Given the description of an element on the screen output the (x, y) to click on. 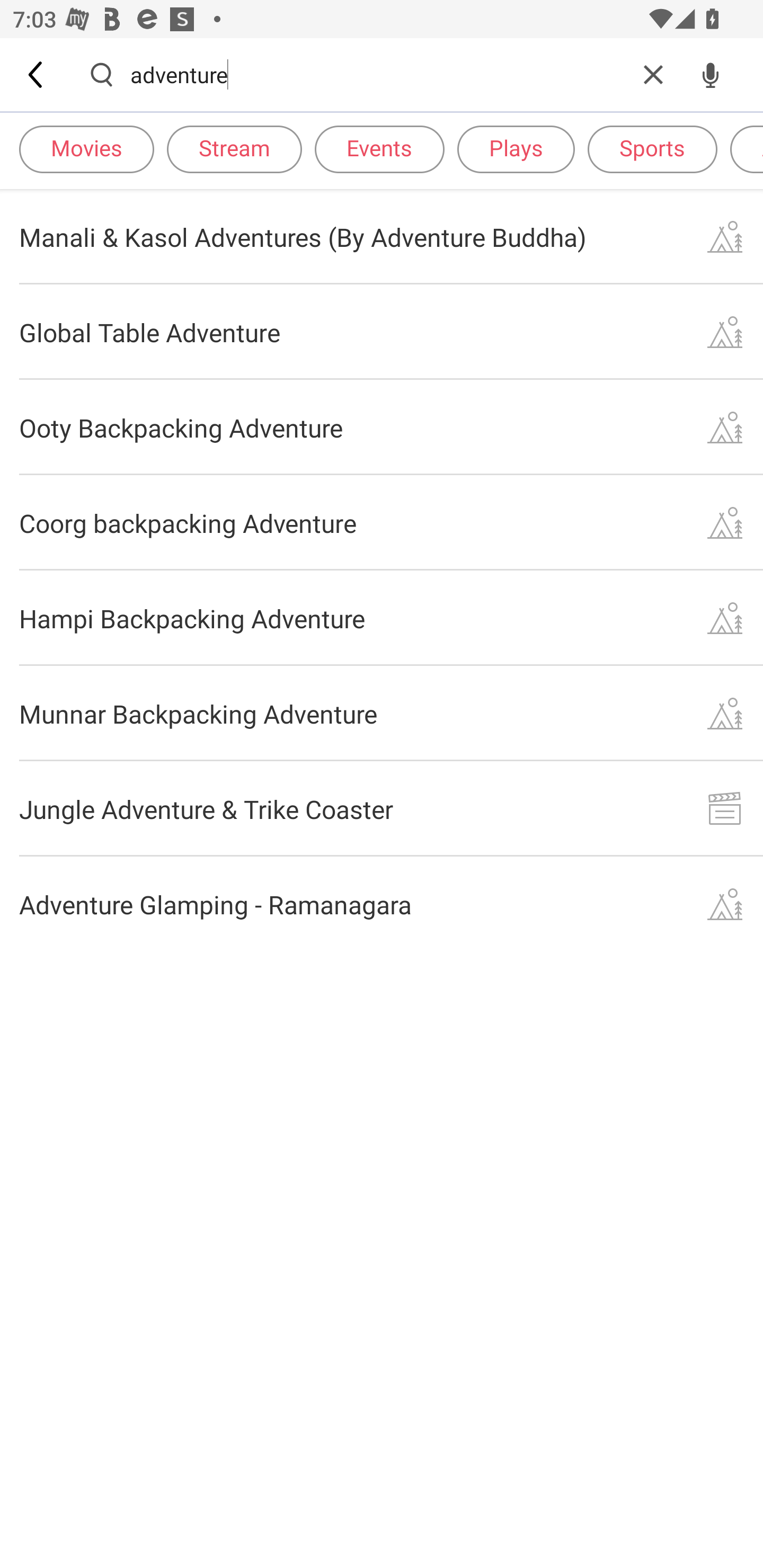
Back (36, 74)
adventure (377, 74)
Clear (653, 74)
Movies (86, 148)
Stream (234, 148)
Events (379, 148)
Plays (515, 148)
Sports (652, 148)
Manali & Kasol Adventures (By Adventure Buddha) (381, 236)
Global Table Adventure (381, 331)
Ooty Backpacking Adventure (381, 427)
Coorg backpacking Adventure (381, 522)
Hampi Backpacking Adventure (381, 618)
Munnar Backpacking Adventure (381, 713)
Jungle Adventure & Trike Coaster (381, 808)
Adventure Glamping - Ramanagara (381, 903)
